Given the description of an element on the screen output the (x, y) to click on. 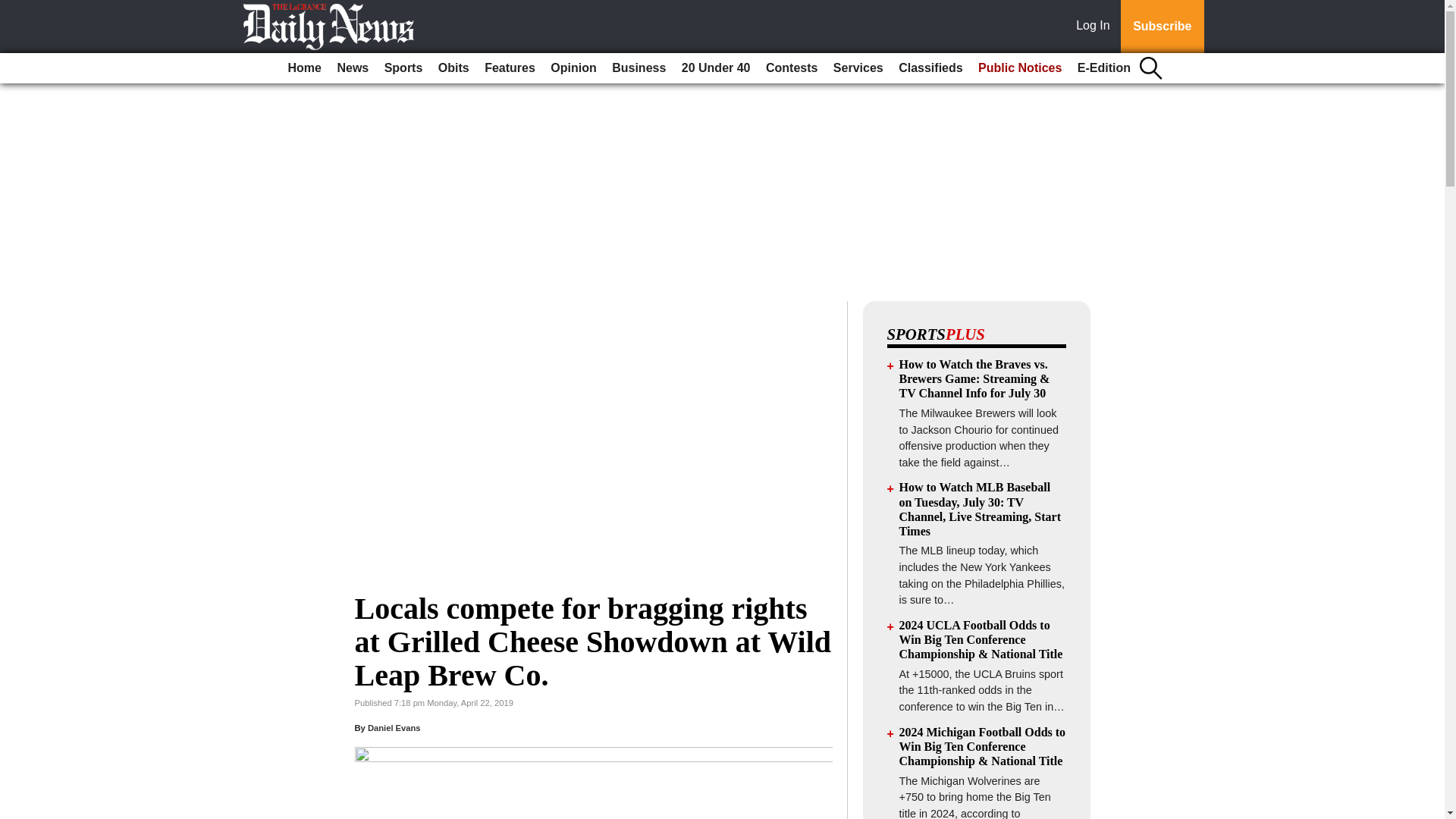
Subscribe (1162, 26)
Business (638, 68)
Features (510, 68)
Services (858, 68)
20 Under 40 (716, 68)
Obits (454, 68)
Classifieds (930, 68)
Home (304, 68)
News (352, 68)
Sports (403, 68)
Go (13, 9)
Daniel Evans (394, 727)
E-Edition (1104, 68)
Opinion (573, 68)
